Given the description of an element on the screen output the (x, y) to click on. 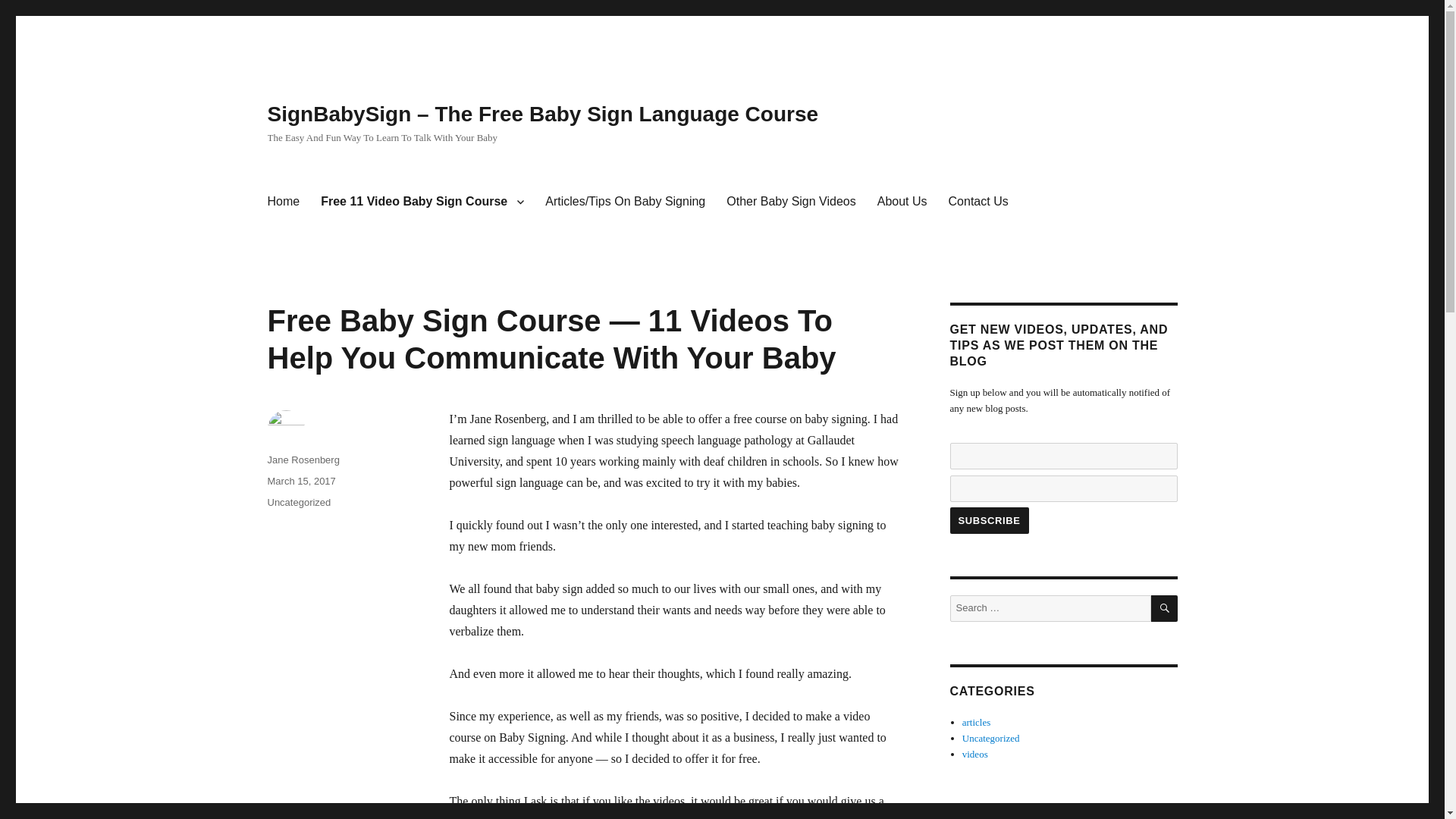
SEARCH (1164, 608)
Subscribe (988, 519)
March 15, 2017 (300, 480)
Jane Rosenberg (302, 460)
Home (283, 201)
About Us (901, 201)
Uncategorized (298, 501)
Other Baby Sign Videos (791, 201)
Subscribe (988, 519)
Contact Us (978, 201)
Free 11 Video Baby Sign Course (422, 201)
